Given the description of an element on the screen output the (x, y) to click on. 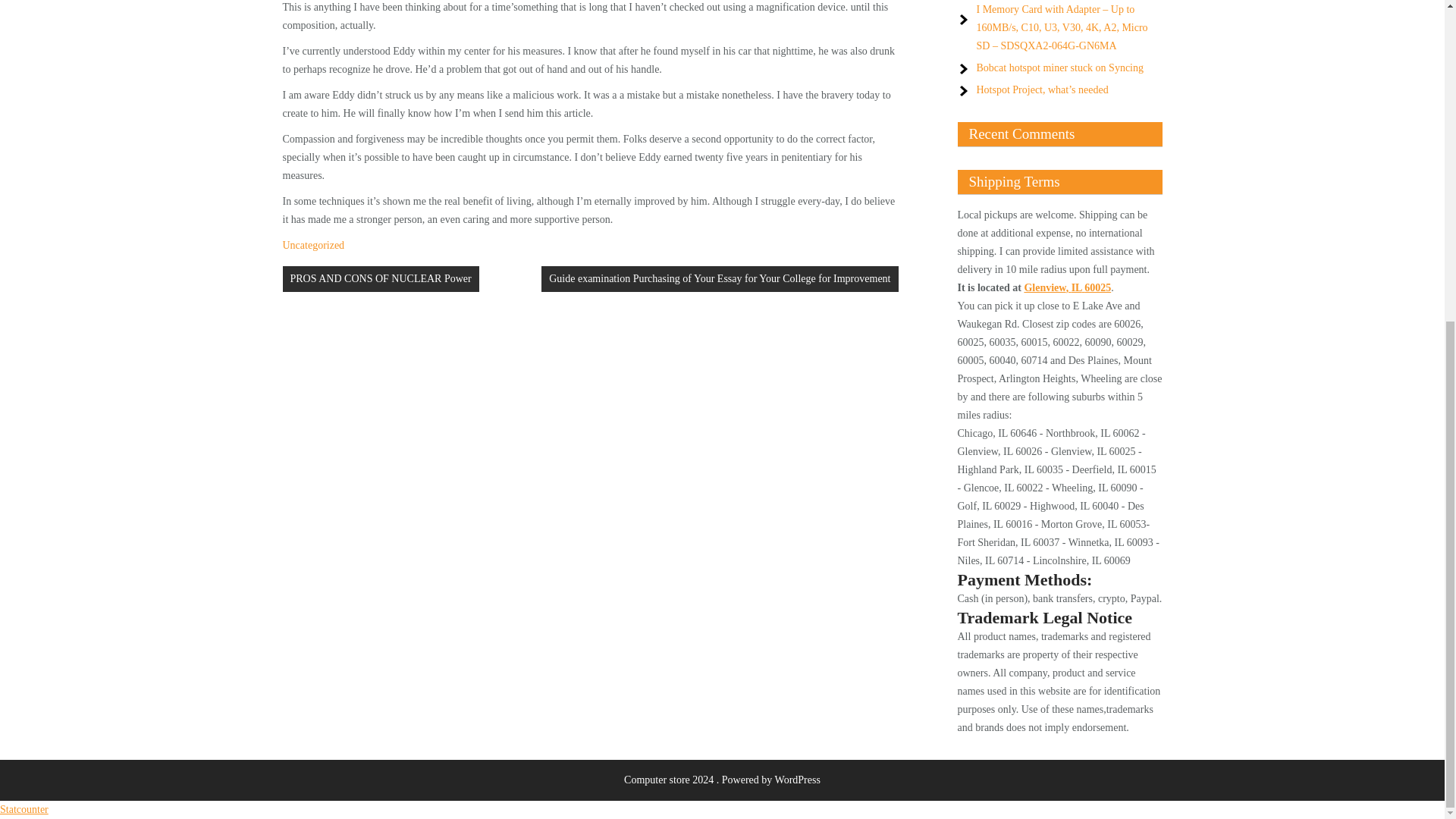
Computer store 2024 . Powered by WordPress (722, 779)
Bobcat hotspot miner stuck on Syncing (1059, 67)
Glenview, IL 60025 (1066, 287)
PROS AND CONS OF NUCLEAR Power (380, 278)
Uncategorized (312, 244)
Statcounter (24, 808)
